Given the description of an element on the screen output the (x, y) to click on. 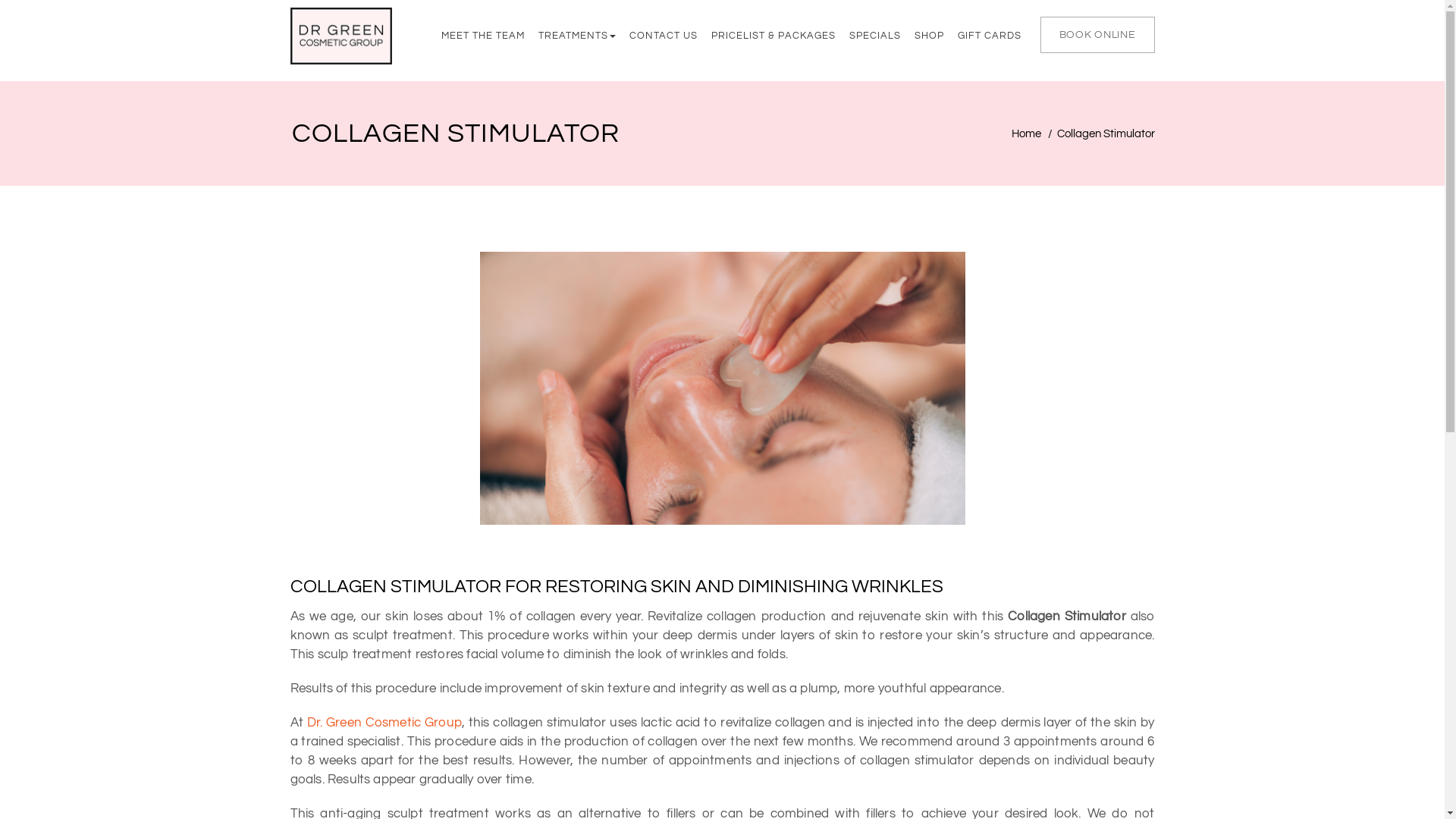
MEET THE TEAM Element type: text (482, 35)
SPECIALS Element type: text (868, 35)
SHOP Element type: text (923, 35)
TREATMENTS Element type: text (571, 35)
BOOK ONLINE Element type: text (1097, 34)
CONTACT US Element type: text (657, 35)
Home Element type: text (1026, 133)
PRICELIST & PACKAGES Element type: text (767, 35)
GIFT CARDS Element type: text (983, 35)
Dr. Green Cosmetic Group Element type: text (382, 722)
